Given the description of an element on the screen output the (x, y) to click on. 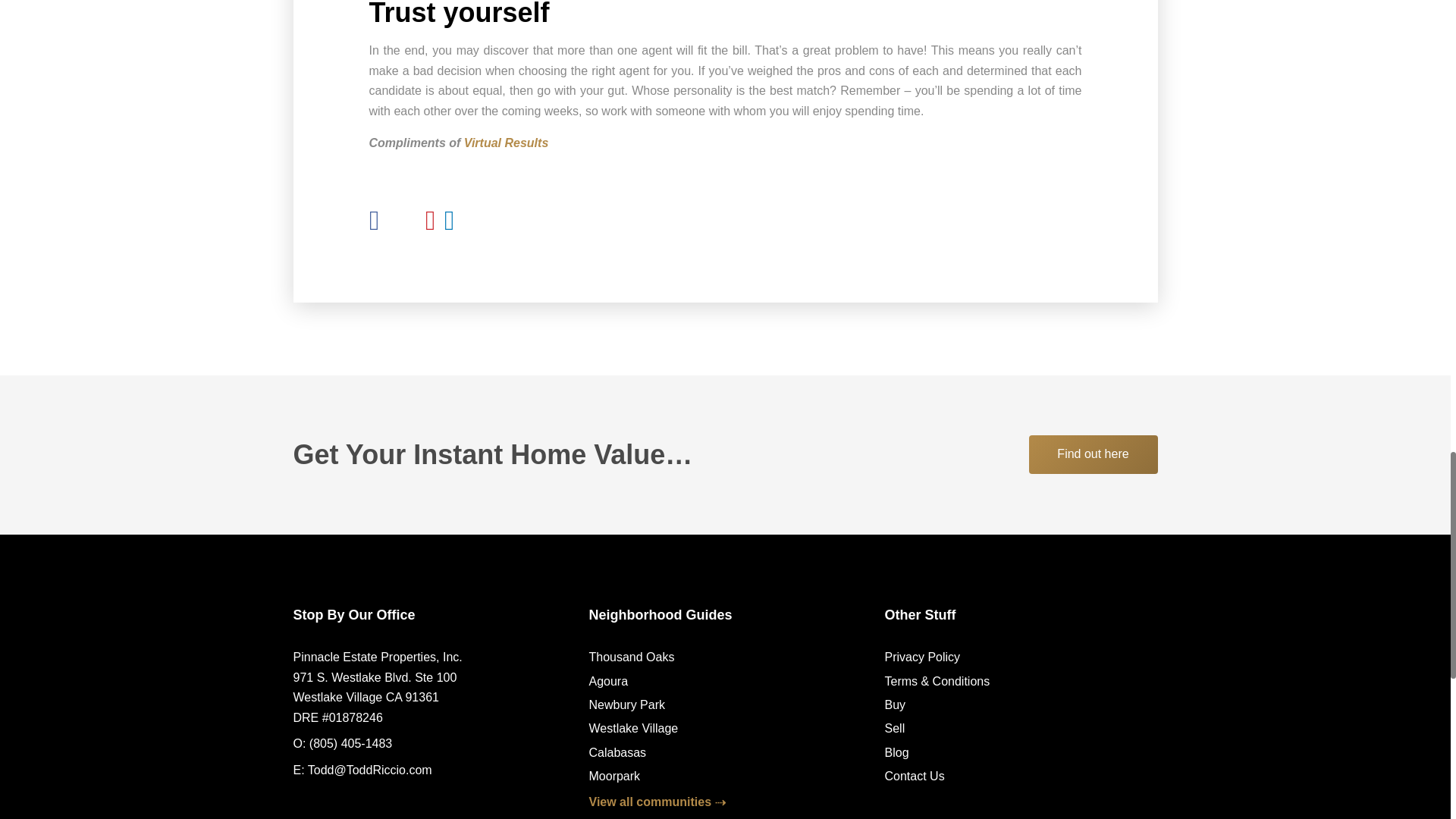
Newbury Park (625, 704)
Thousand Oaks (631, 656)
Virtual Results (506, 142)
Agoura (607, 680)
Westlake Village (633, 727)
Calabasas (617, 752)
Find out here (1092, 454)
Moorpark (614, 775)
